Given the description of an element on the screen output the (x, y) to click on. 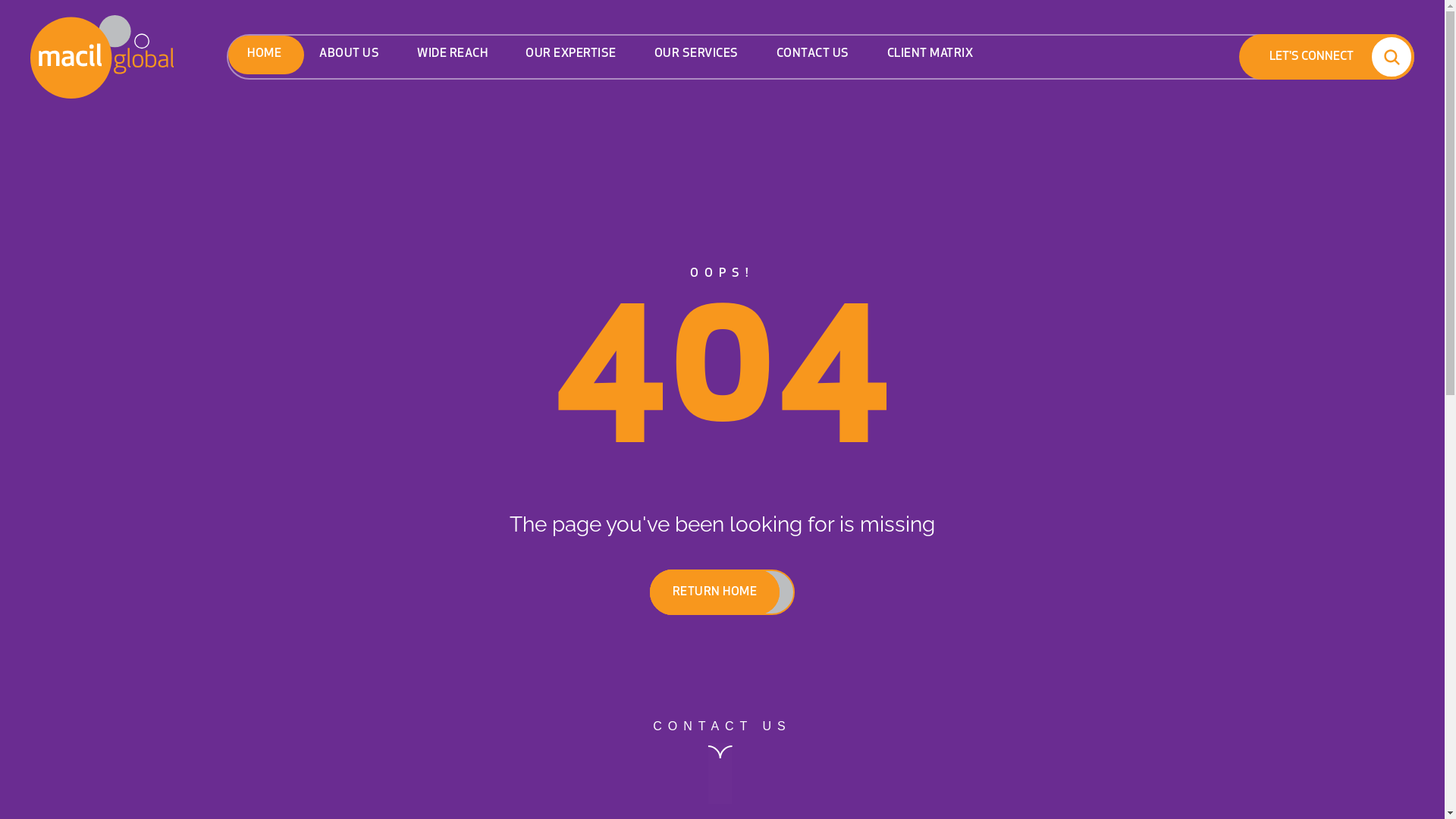
OUR EXPERTISE Element type: text (570, 54)
Privacy Policy Element type: text (988, 781)
CONTACT US Element type: text (812, 54)
LET'S CONNECT Element type: text (1322, 56)
+61 3 9975 7575 Element type: text (311, 386)
HOME Element type: text (264, 54)
CONTACT US Element type: text (721, 760)
CLIENT MATRIX Element type: text (930, 54)
Terms & Conditions Element type: text (1106, 781)
ABOUT US Element type: text (349, 54)
SEND REQUEST Element type: text (1124, 519)
WIDE REACH Element type: text (452, 54)
RETURN HOME Element type: text (714, 592)
+61 2 8077 3335 Element type: text (311, 549)
OUR SERVICES Element type: text (696, 54)
